Given the description of an element on the screen output the (x, y) to click on. 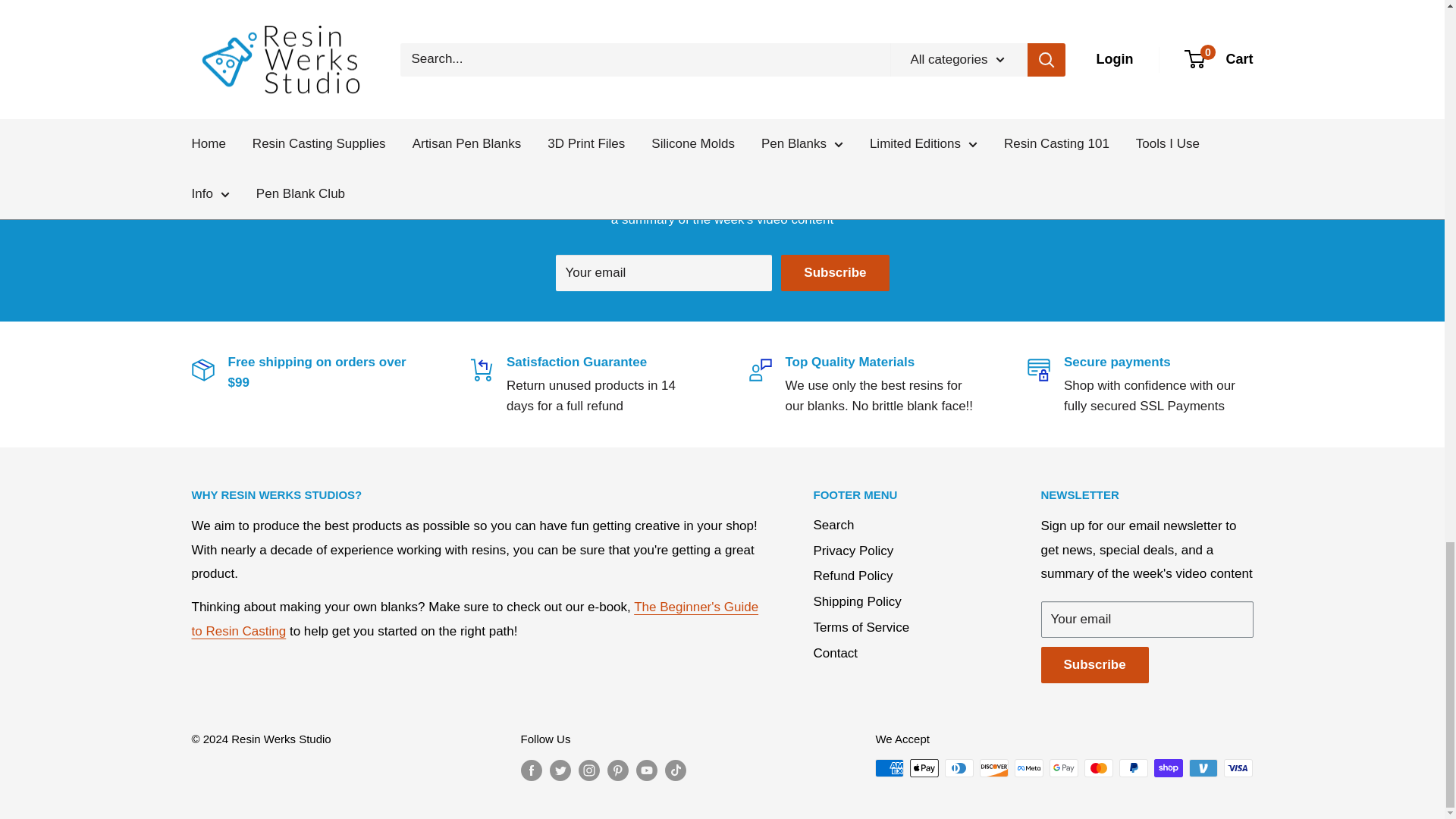
The Beginners Guide To Resin Casting (474, 618)
